Given the description of an element on the screen output the (x, y) to click on. 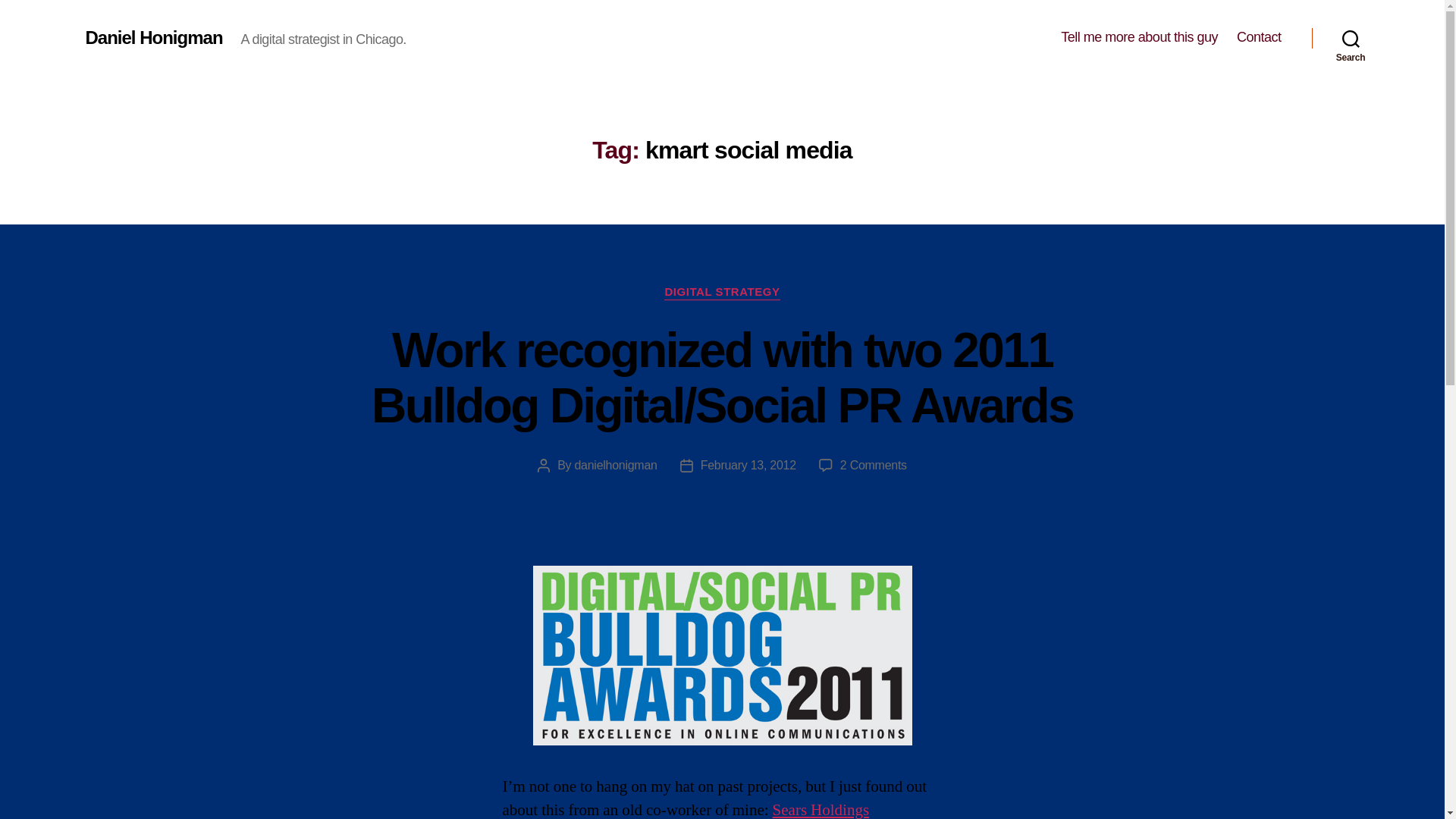
Contact (1258, 37)
Search (1350, 37)
February 13, 2012 (748, 464)
Daniel Honigman (153, 37)
Sears Holdings Corporation announced (685, 809)
DIGITAL STRATEGY (720, 292)
danielhonigman (614, 464)
Tell me more about this guy (1139, 37)
